Given the description of an element on the screen output the (x, y) to click on. 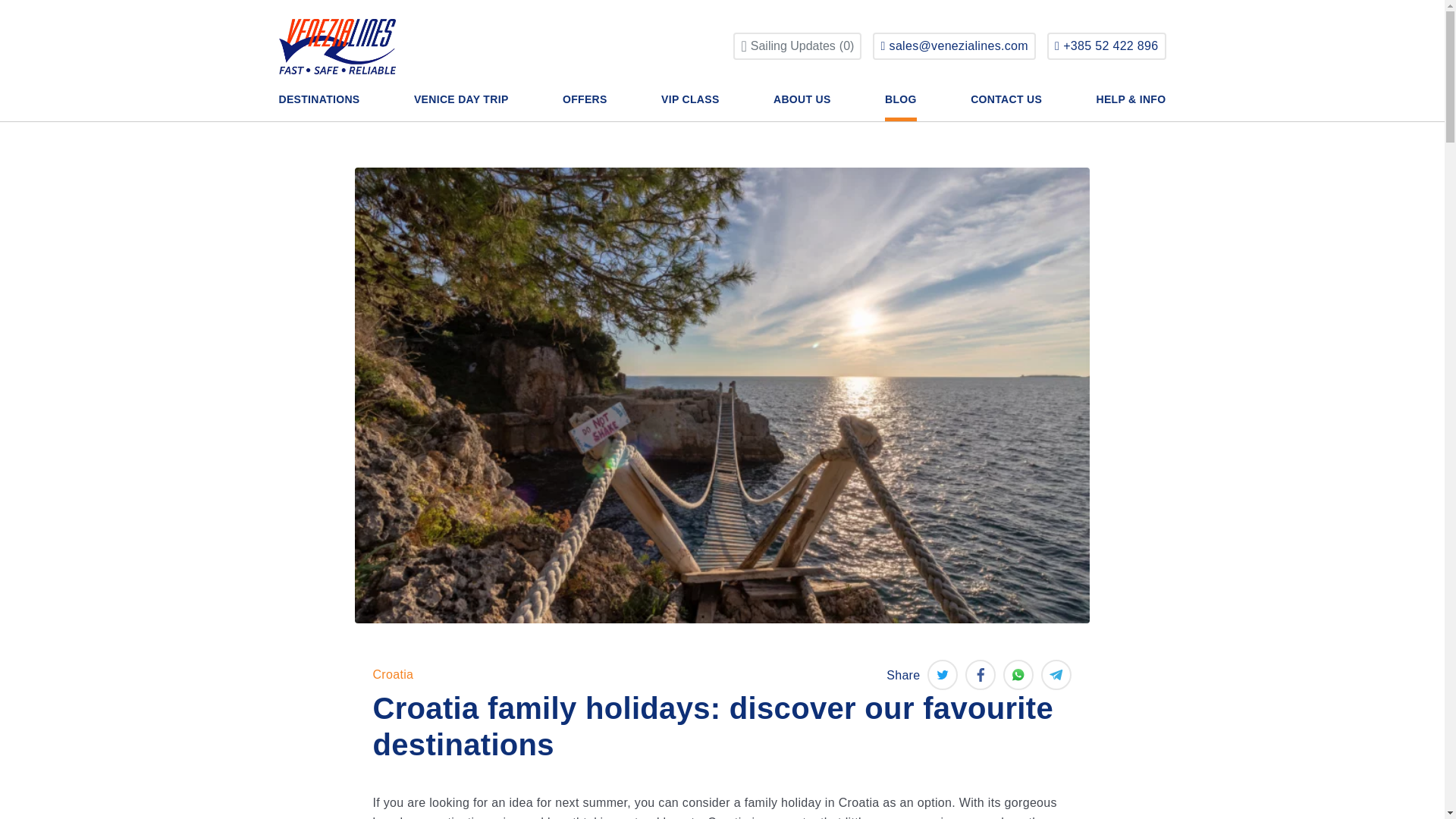
ABOUT US (802, 107)
VENICE DAY TRIP (460, 107)
OFFERS (584, 107)
BLOG (797, 45)
DESTINATIONS (901, 107)
VIP CLASS (319, 107)
CONTACT US (690, 107)
